Given the description of an element on the screen output the (x, y) to click on. 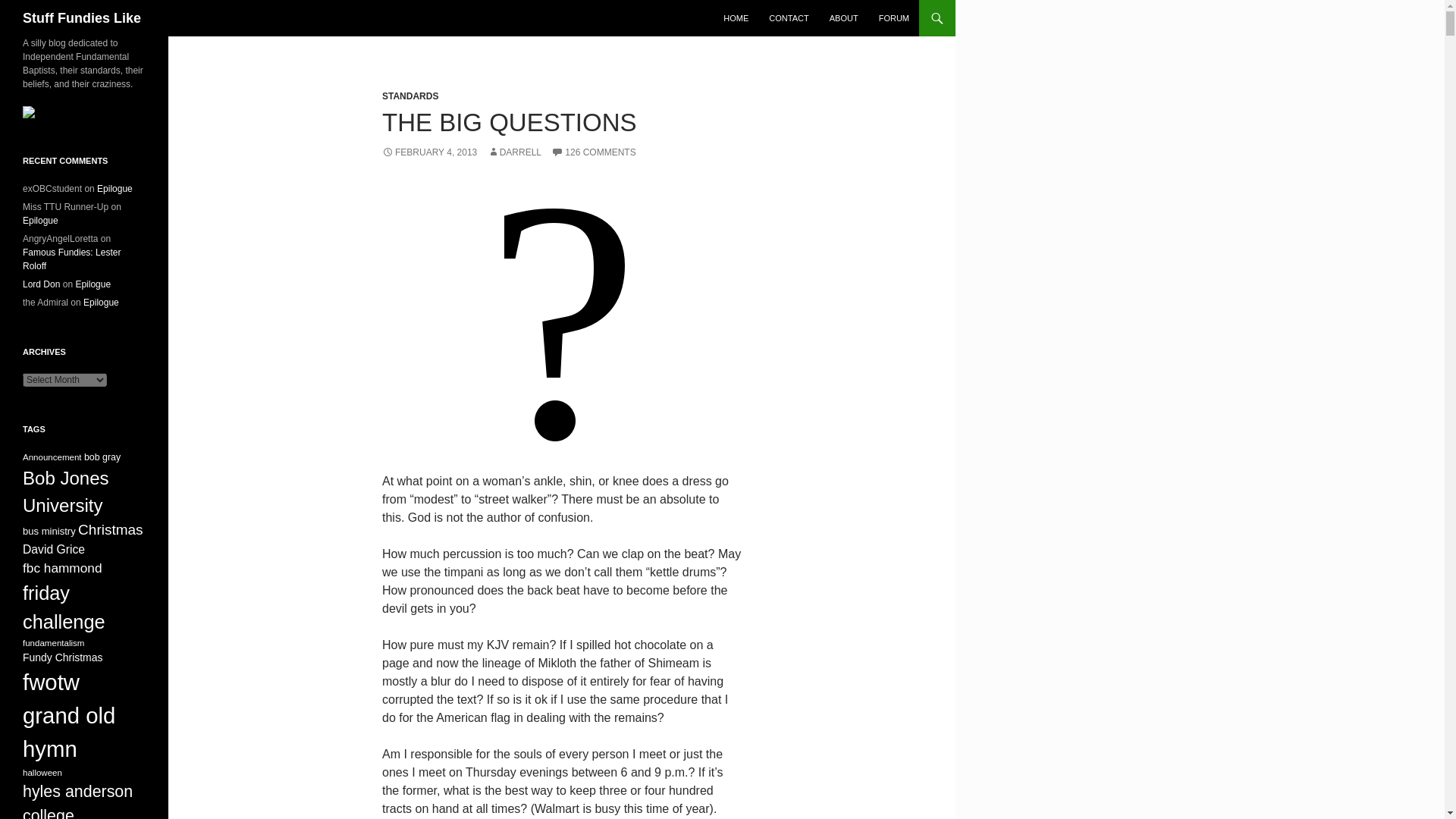
CONTACT (788, 18)
FEBRUARY 4, 2013 (429, 152)
FORUM (893, 18)
126 COMMENTS (592, 152)
STANDARDS (409, 95)
HOME (735, 18)
ABOUT (844, 18)
DARRELL (514, 152)
Stuff Fundies Like (82, 18)
